Given the description of an element on the screen output the (x, y) to click on. 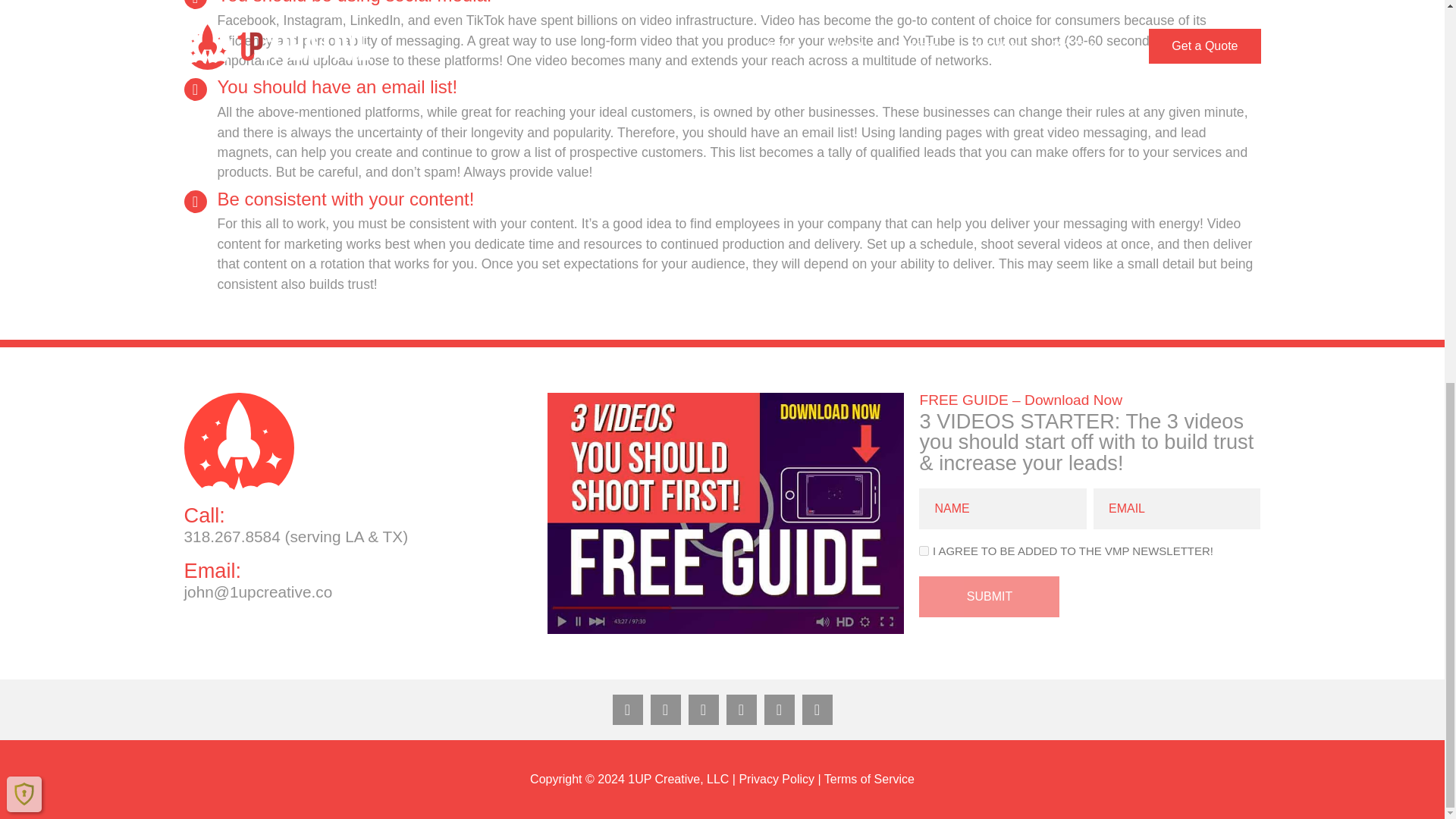
Submit (988, 596)
I agree to be added to the VMP newsletter! (923, 551)
Shield Security (23, 78)
Terms of Service (869, 779)
Submit (988, 596)
Privacy Policy (775, 779)
